Given the description of an element on the screen output the (x, y) to click on. 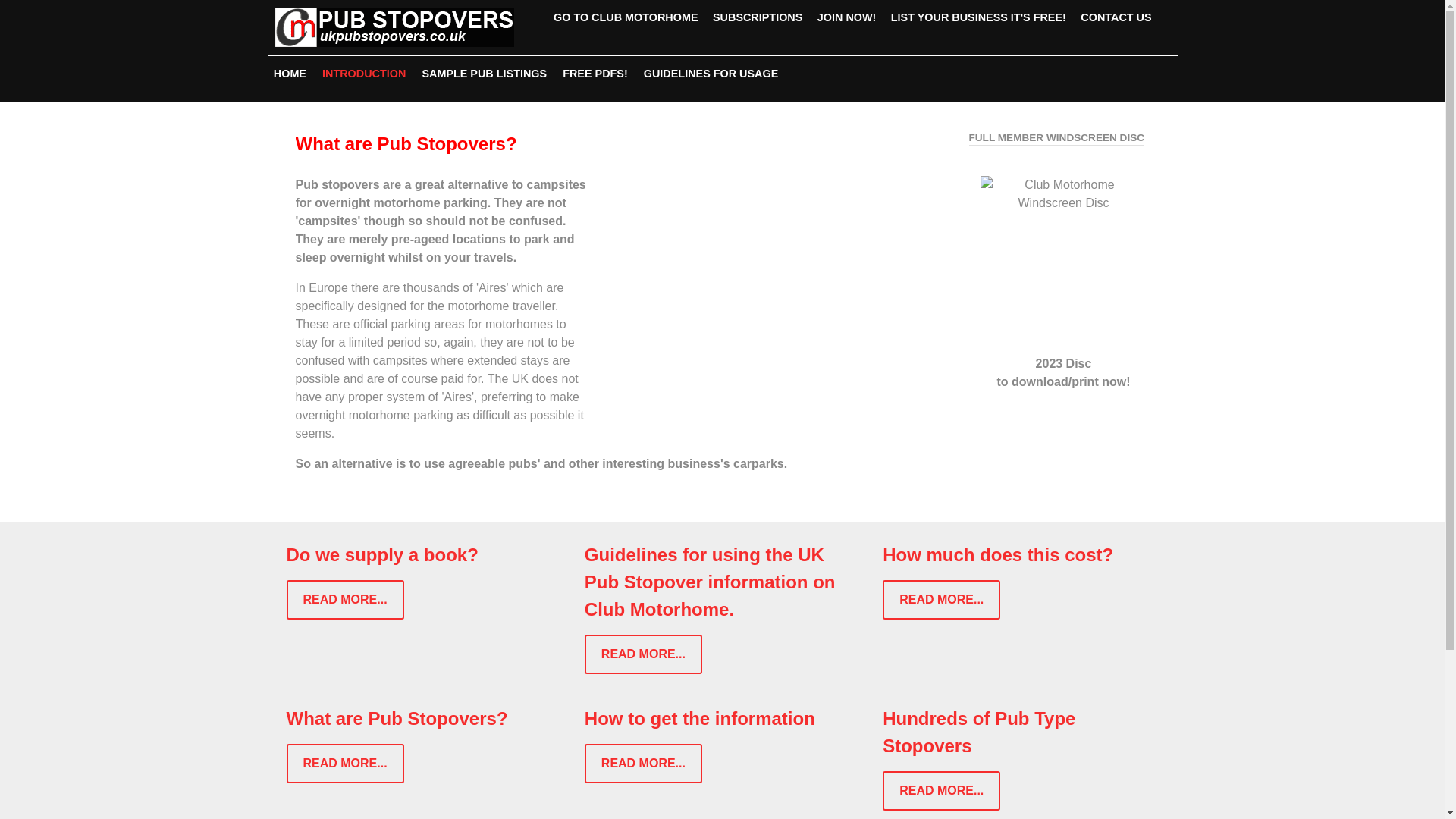
READ MORE... (345, 599)
Do we supply a book? (382, 554)
INTRODUCTION (364, 73)
READ MORE... (643, 762)
JOIN NOW! (846, 17)
READ MORE... (345, 762)
How much does this cost? (997, 554)
CONTACT US (1116, 17)
READ MORE... (941, 790)
LIST YOUR BUSINESS IT'S FREE! (978, 17)
What are Pub Stopovers? (397, 718)
READ MORE... (941, 599)
How to get the information (700, 718)
FREE PDFS! (595, 73)
READ MORE... (643, 654)
